Given the description of an element on the screen output the (x, y) to click on. 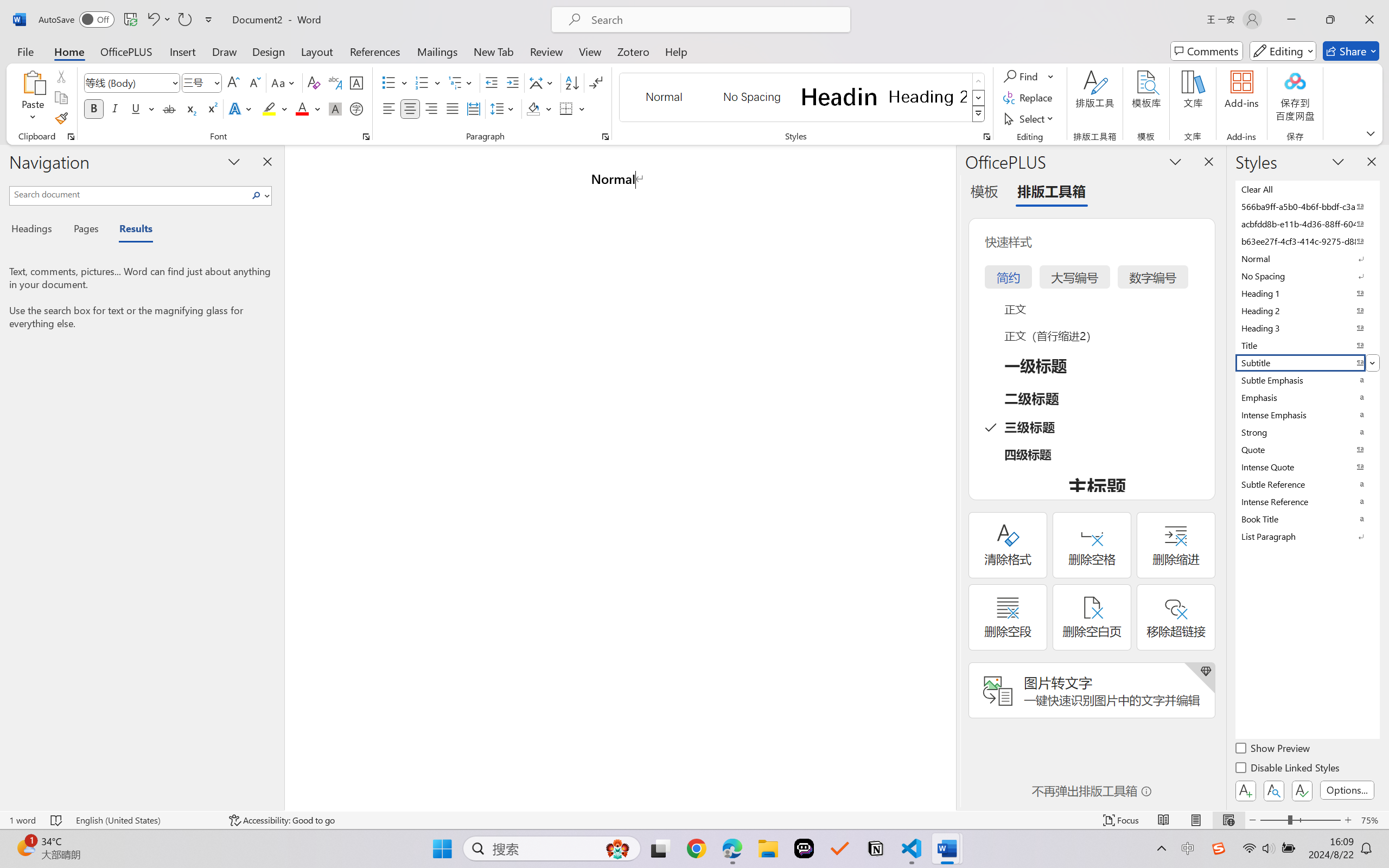
Disable Linked Styles (1287, 769)
